Given the description of an element on the screen output the (x, y) to click on. 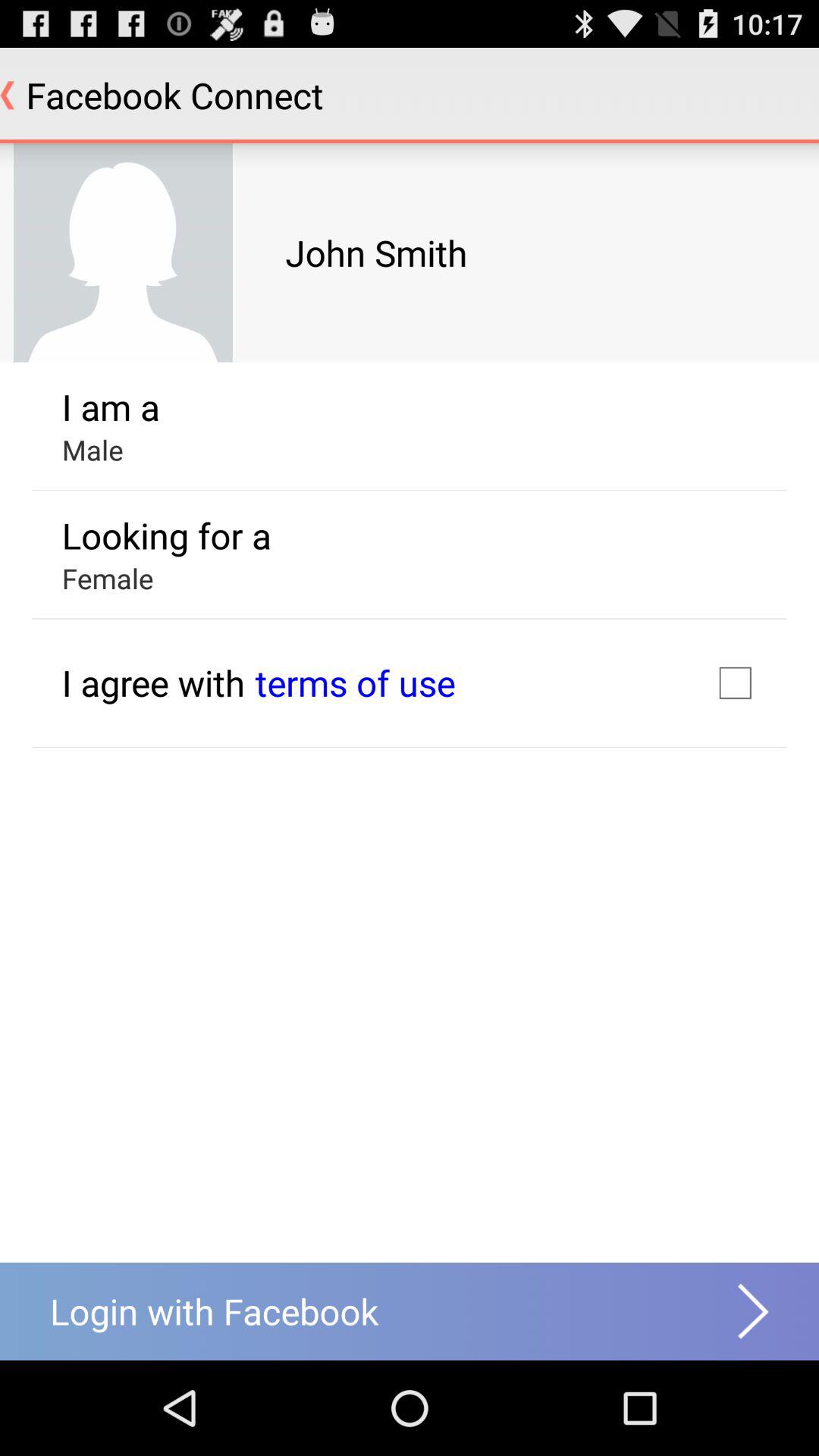
press item at the center (355, 682)
